Given the description of an element on the screen output the (x, y) to click on. 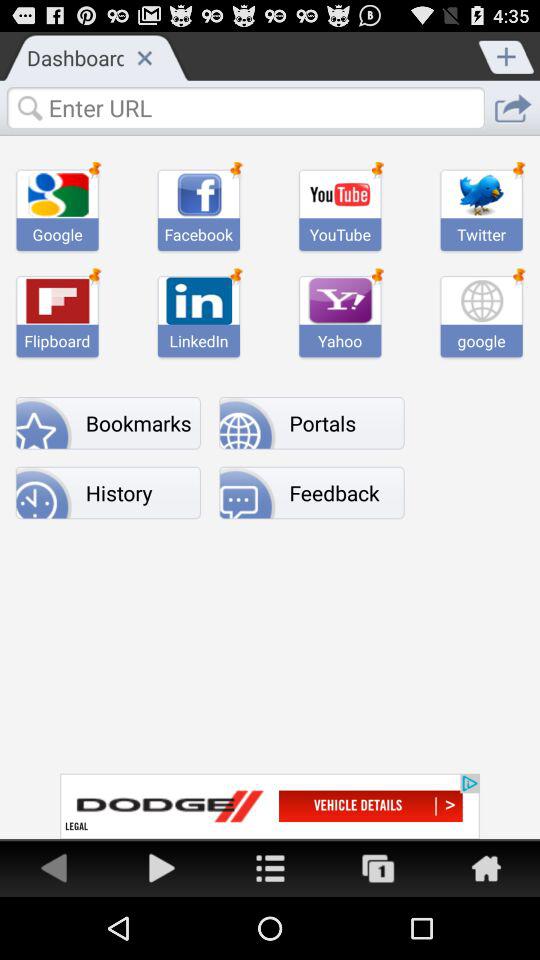
go forward (162, 867)
